Given the description of an element on the screen output the (x, y) to click on. 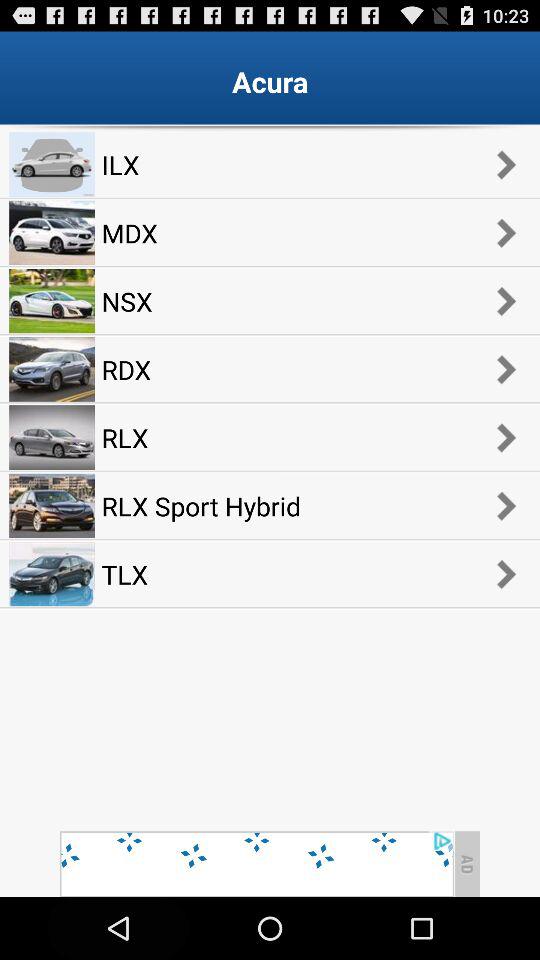
advertisement page (256, 864)
